Given the description of an element on the screen output the (x, y) to click on. 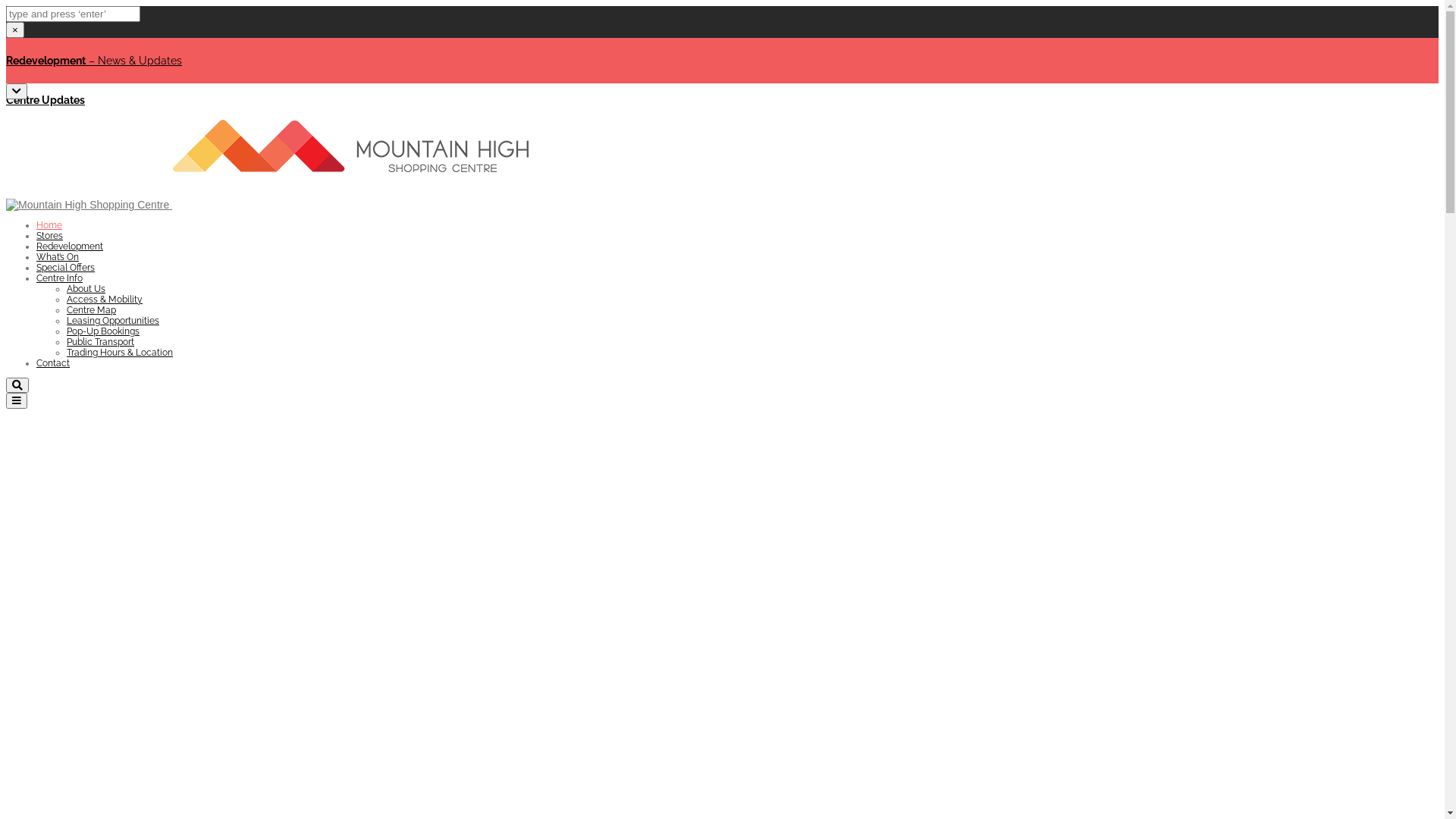
Centre Updates Element type: text (45, 100)
Access & Mobility Element type: text (104, 299)
Public Transport Element type: text (100, 341)
Pop-Up Bookings Element type: text (102, 331)
Close top bar Element type: text (16, 91)
Stores Element type: text (49, 235)
Trading Hours & Location Element type: text (119, 352)
Search Element type: text (17, 384)
Contact Element type: text (52, 362)
Leasing Opportunities Element type: text (112, 320)
Home Element type: text (49, 224)
Centre Map Element type: text (91, 309)
Redevelopment Element type: text (69, 246)
Centre Info Element type: text (59, 278)
About Us Element type: text (85, 288)
Toggle navigation Element type: text (16, 400)
Special Offers Element type: text (65, 267)
